Given the description of an element on the screen output the (x, y) to click on. 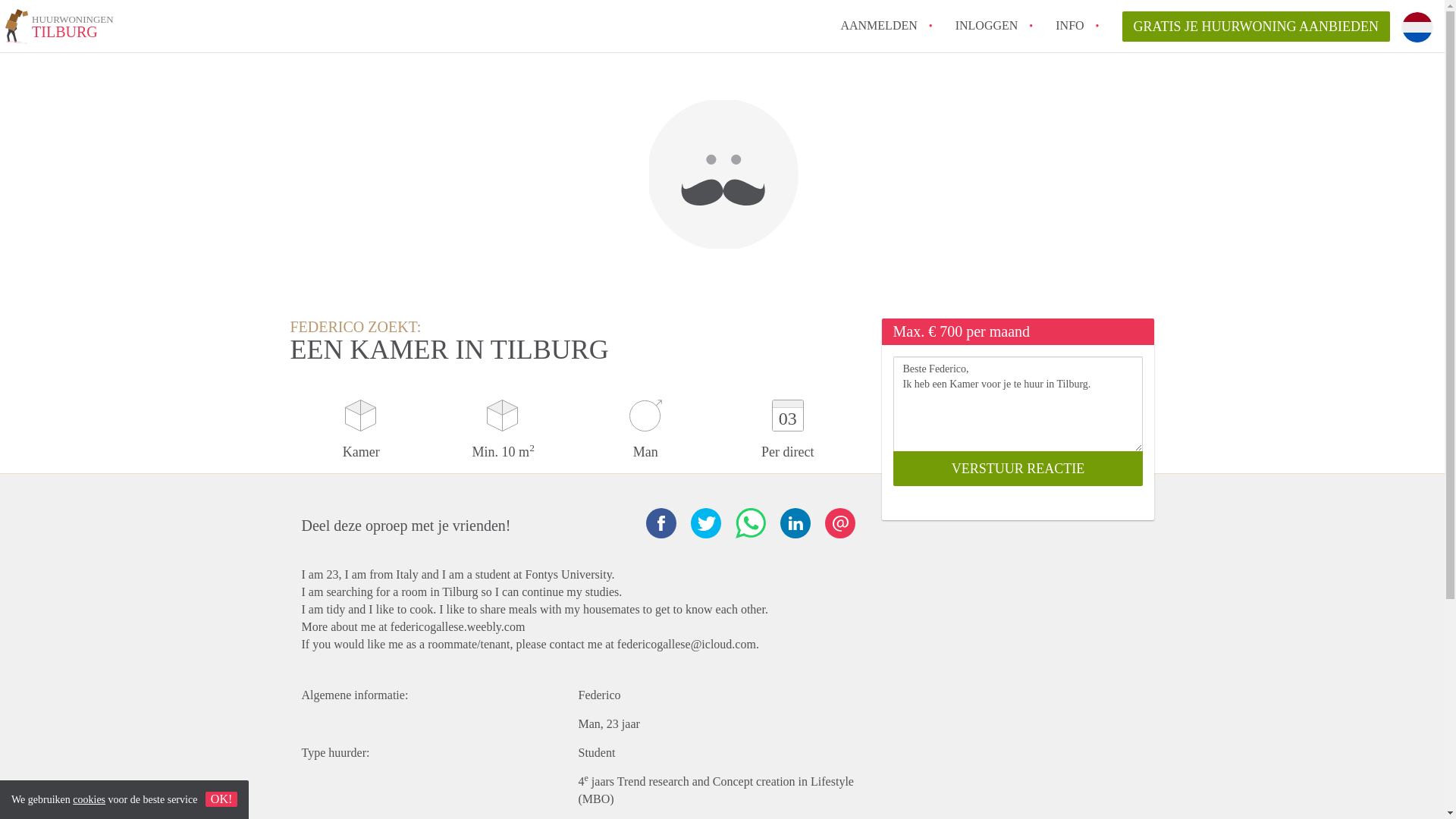
cookies (88, 799)
Deel deze oproep via Twitter (705, 522)
INFO (1069, 25)
VERSTUUR REACTIE (1017, 468)
Aanmelden voor een nieuw account (878, 25)
Inloggen met je gegevens (986, 25)
Deel deze oproep via Whatsapp (750, 522)
Gratis je Huurwoning aanbieden (1256, 26)
Antwoorden op veelgestelde vragen (1069, 25)
Deel deze oproep via Facebook (59, 28)
Deel deze oproep via LinkedIn (661, 522)
OK! (793, 522)
INLOGGEN (221, 798)
AANMELDEN (986, 25)
